Given the description of an element on the screen output the (x, y) to click on. 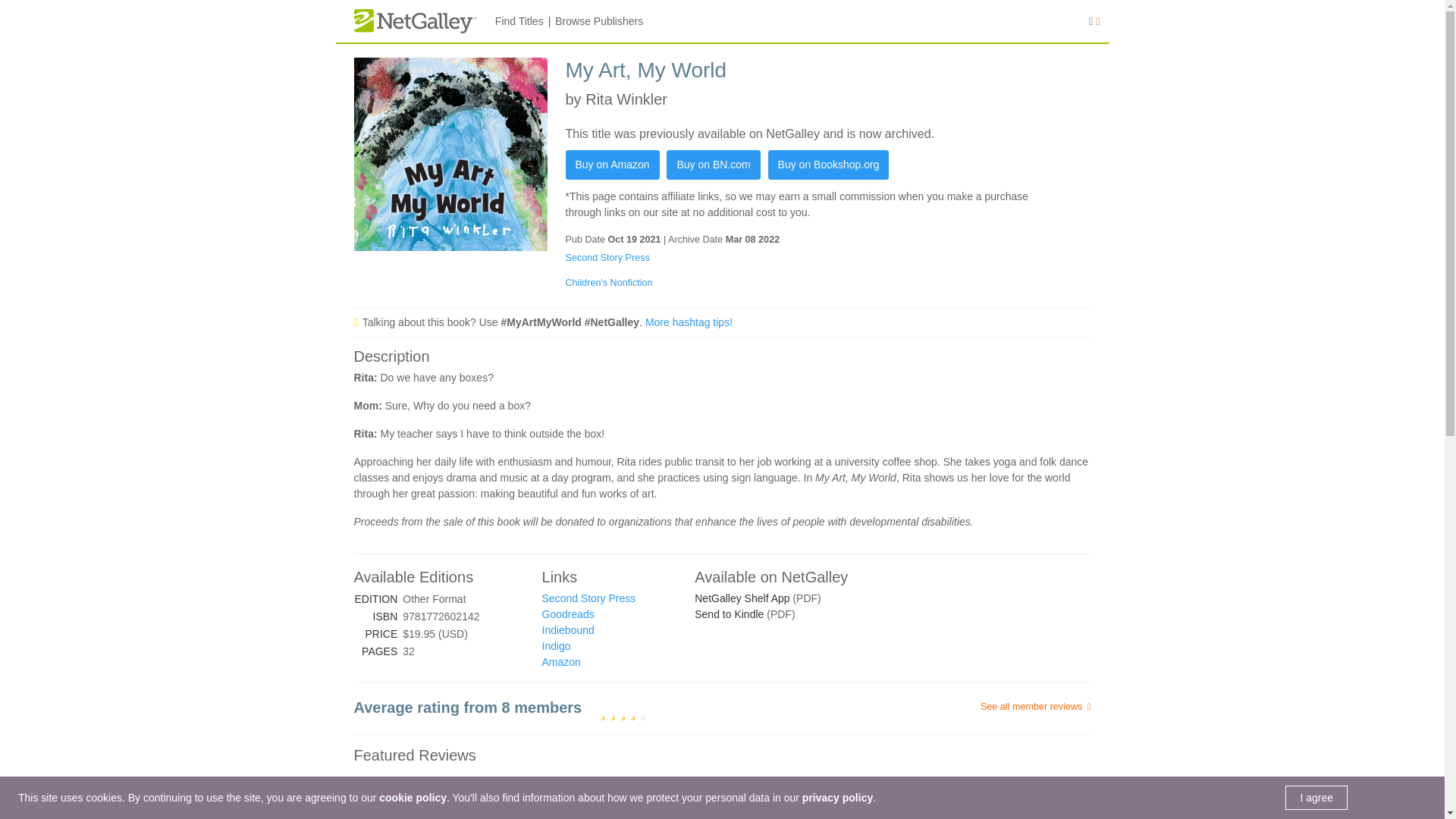
Second Story Press (588, 598)
Second Story Press (607, 257)
Indiebound (567, 630)
Indigo (555, 645)
Find Titles (519, 21)
More hashtag tips! (688, 322)
Goodreads (567, 613)
Children's Nonfiction (609, 282)
Amazon (560, 662)
Browse Publishers (598, 21)
